Given the description of an element on the screen output the (x, y) to click on. 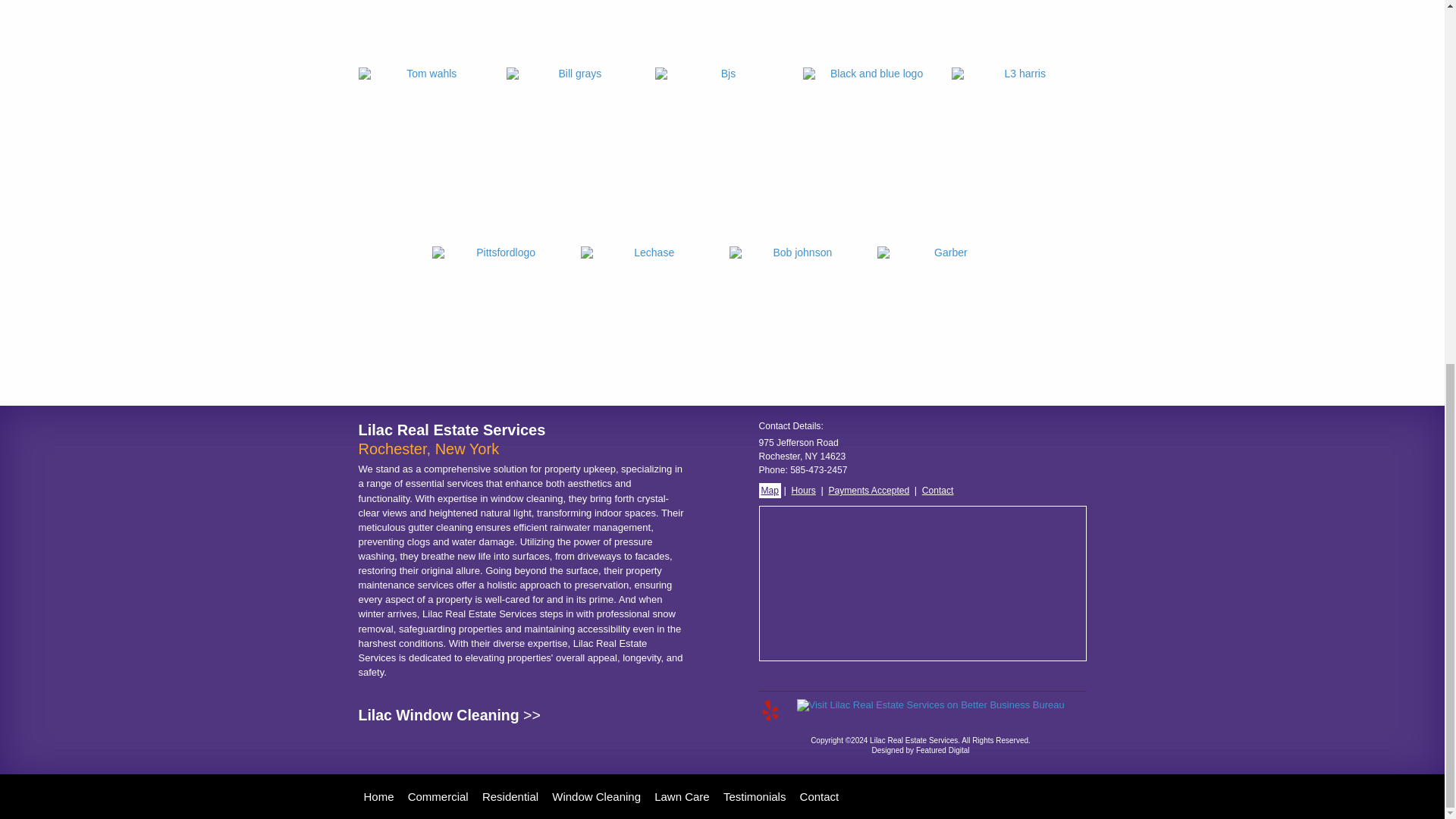
Hours (803, 490)
585-473-2457 (818, 470)
Map (769, 490)
Lilac Window Cleaning (438, 714)
Payments Accepted (868, 490)
Designed by Featured Digital (920, 750)
Contact (938, 490)
